Given the description of an element on the screen output the (x, y) to click on. 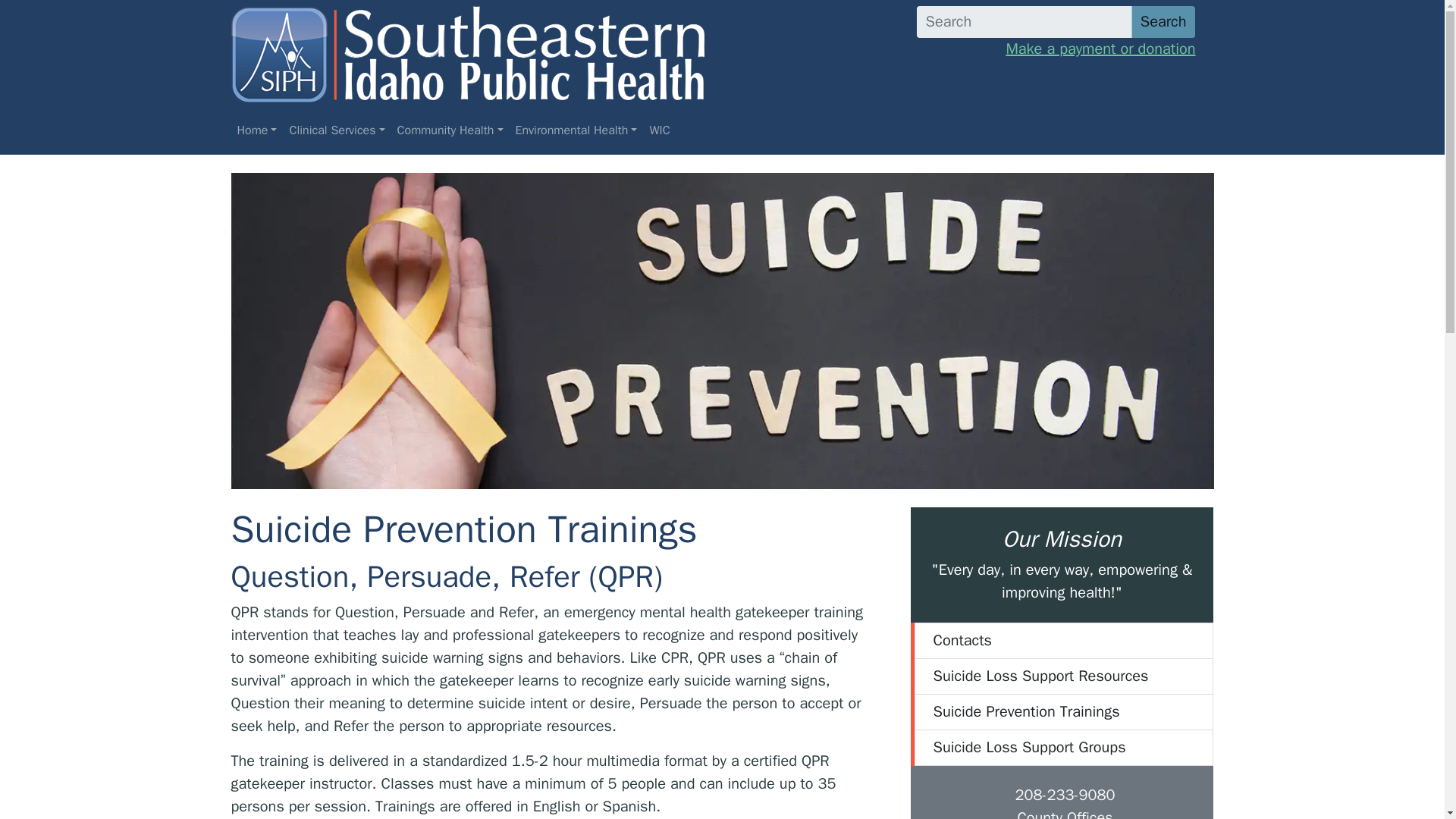
Clinical Services (336, 130)
Community Health (450, 130)
Home (256, 130)
Search Our Site (1055, 21)
Search (1163, 21)
Make a payment or donation (1055, 48)
